Given the description of an element on the screen output the (x, y) to click on. 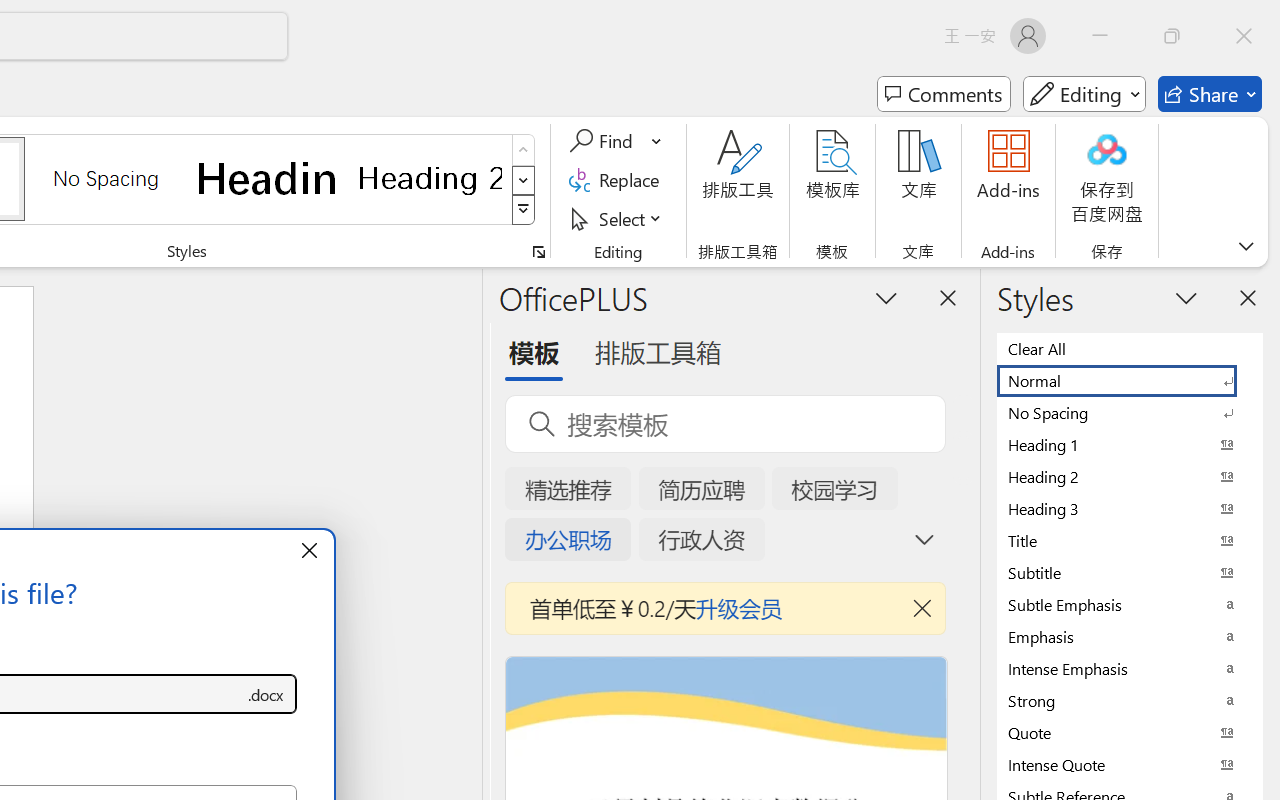
Ribbon Display Options (1246, 245)
Row up (523, 150)
Heading 3 (1130, 508)
Heading 1 (267, 178)
Select (618, 218)
Title (1130, 540)
Restore Down (1172, 36)
Find (616, 141)
Row Down (523, 180)
